Given the description of an element on the screen output the (x, y) to click on. 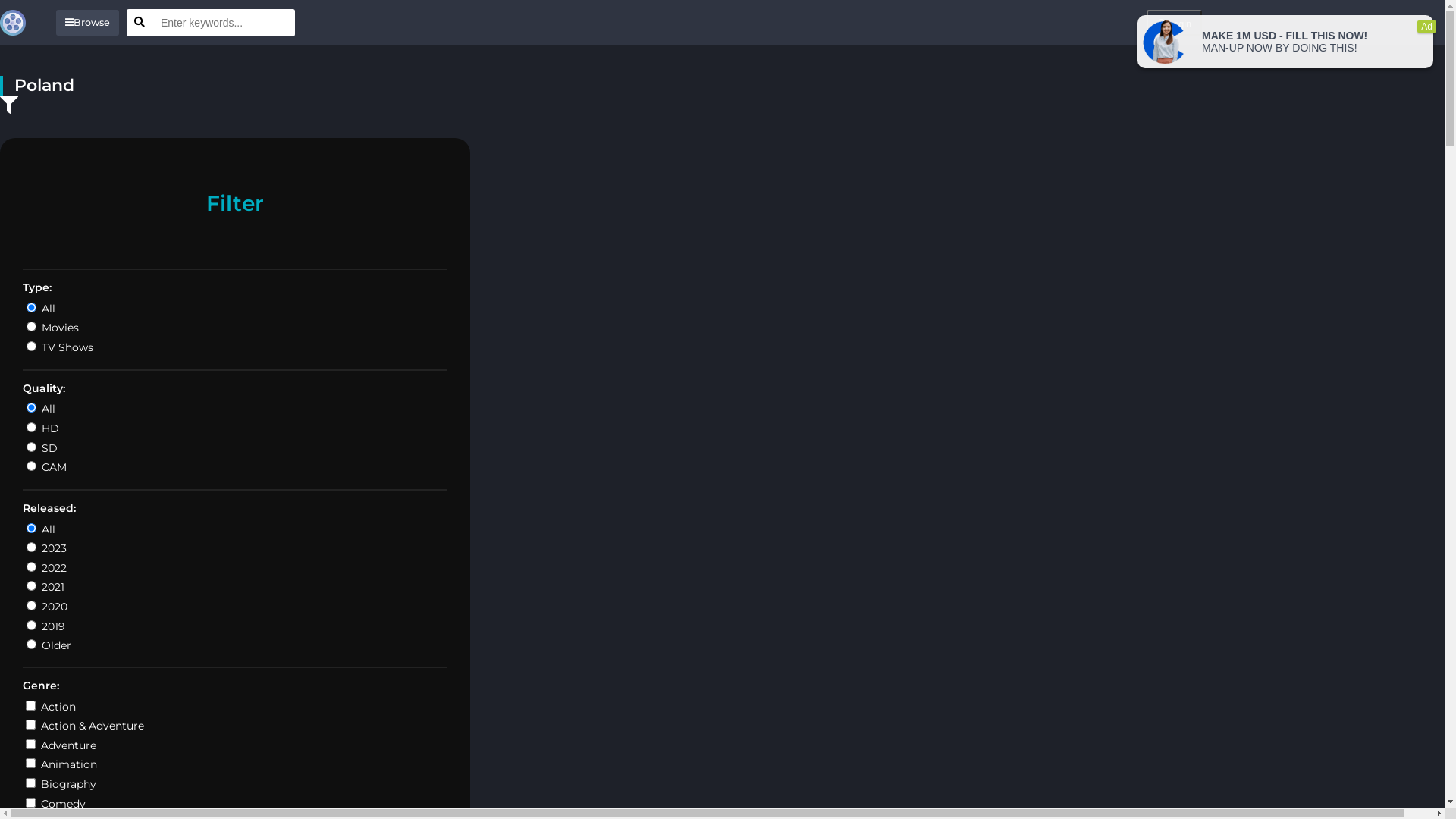
Movies2watch.cc Element type: hover (16, 22)
Login Element type: text (1173, 22)
